Given the description of an element on the screen output the (x, y) to click on. 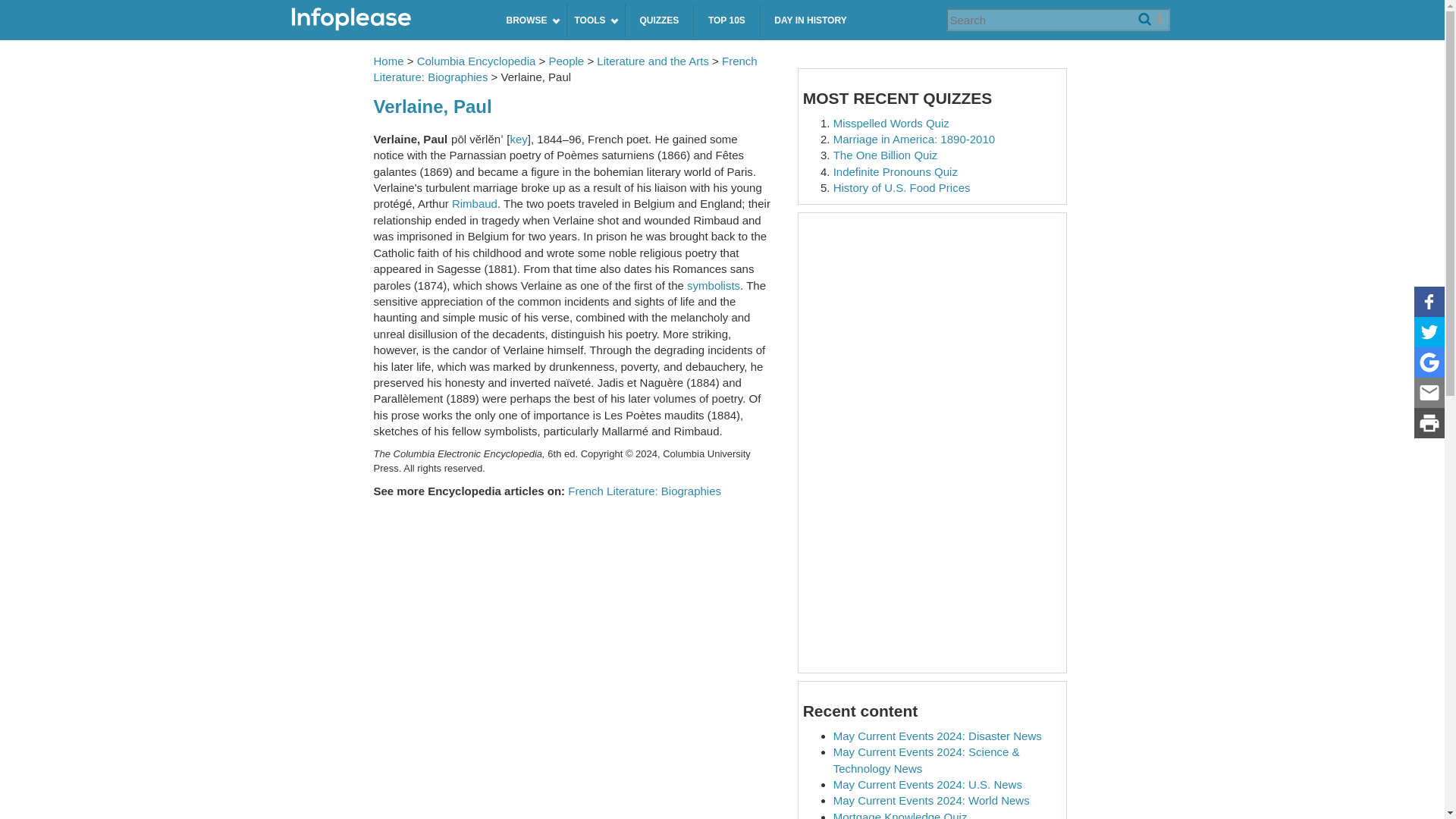
Home (386, 19)
